Given the description of an element on the screen output the (x, y) to click on. 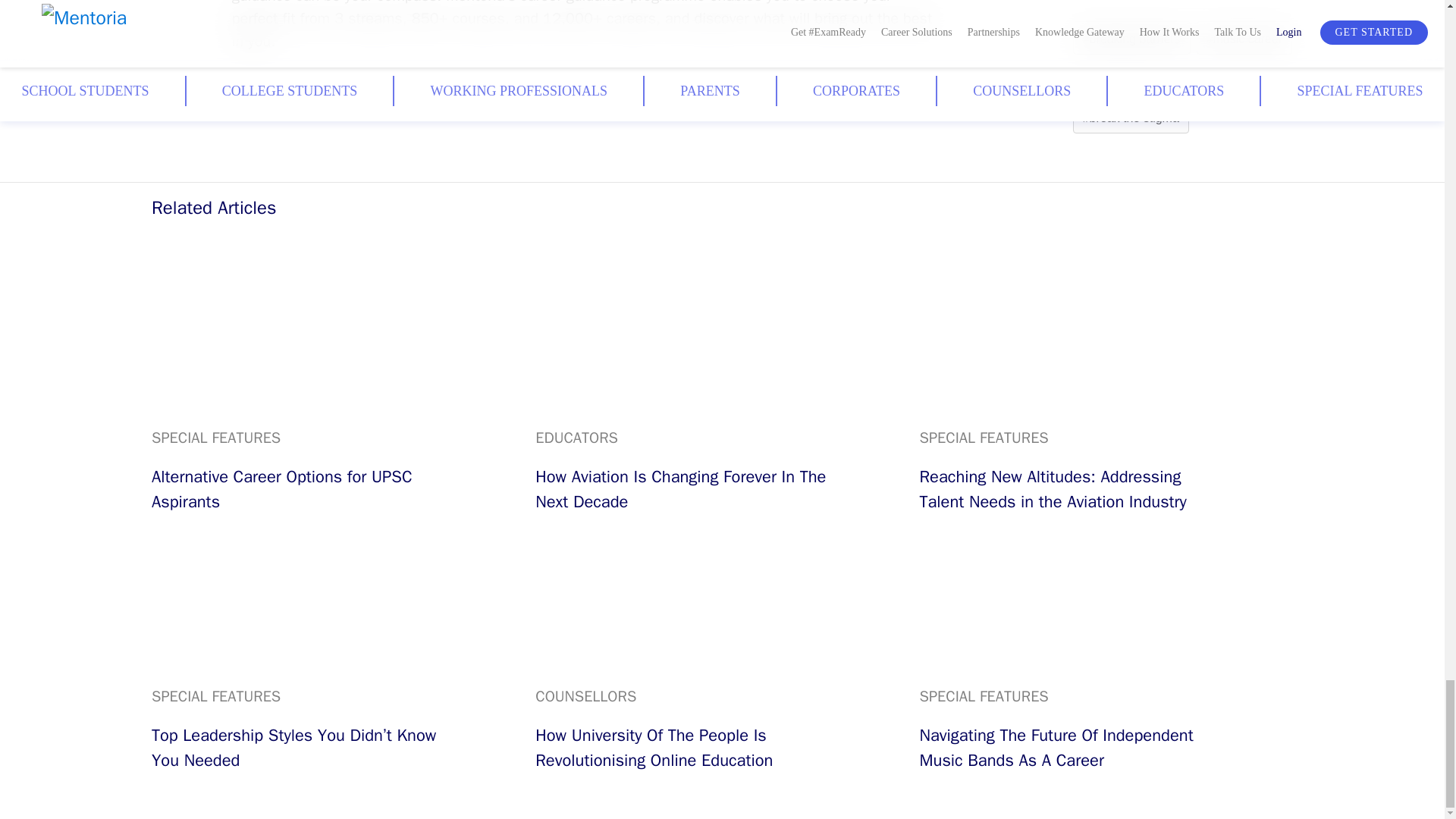
career in music (1277, 78)
music career (1244, 38)
breaking barriers (1131, 38)
break the stigma (1131, 117)
music careers in India (1145, 78)
